Given the description of an element on the screen output the (x, y) to click on. 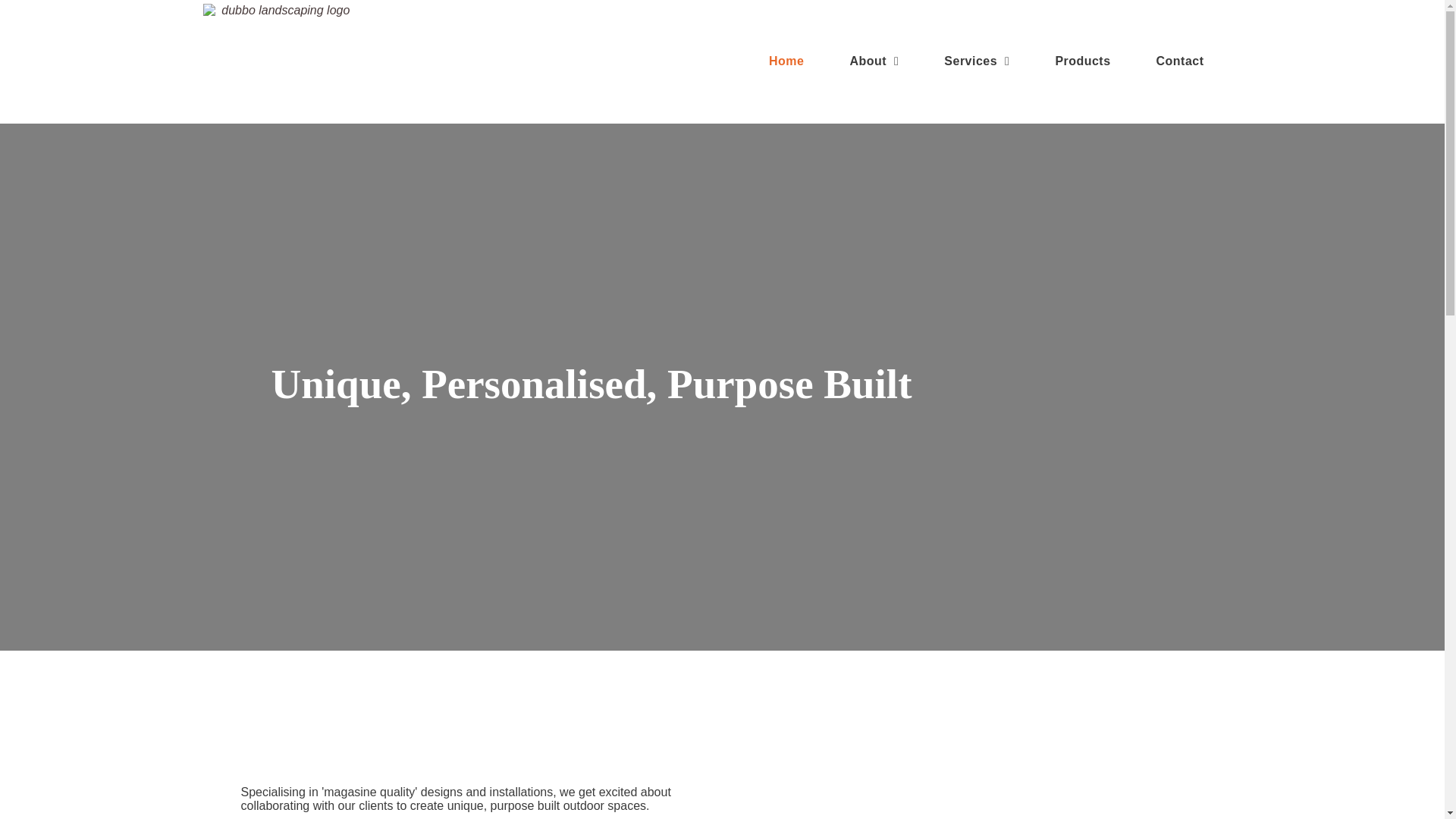
Contact Element type: text (1157, 61)
Products Element type: text (1059, 61)
About Element type: text (850, 61)
Home Element type: text (763, 61)
Services Element type: text (953, 61)
